Given the description of an element on the screen output the (x, y) to click on. 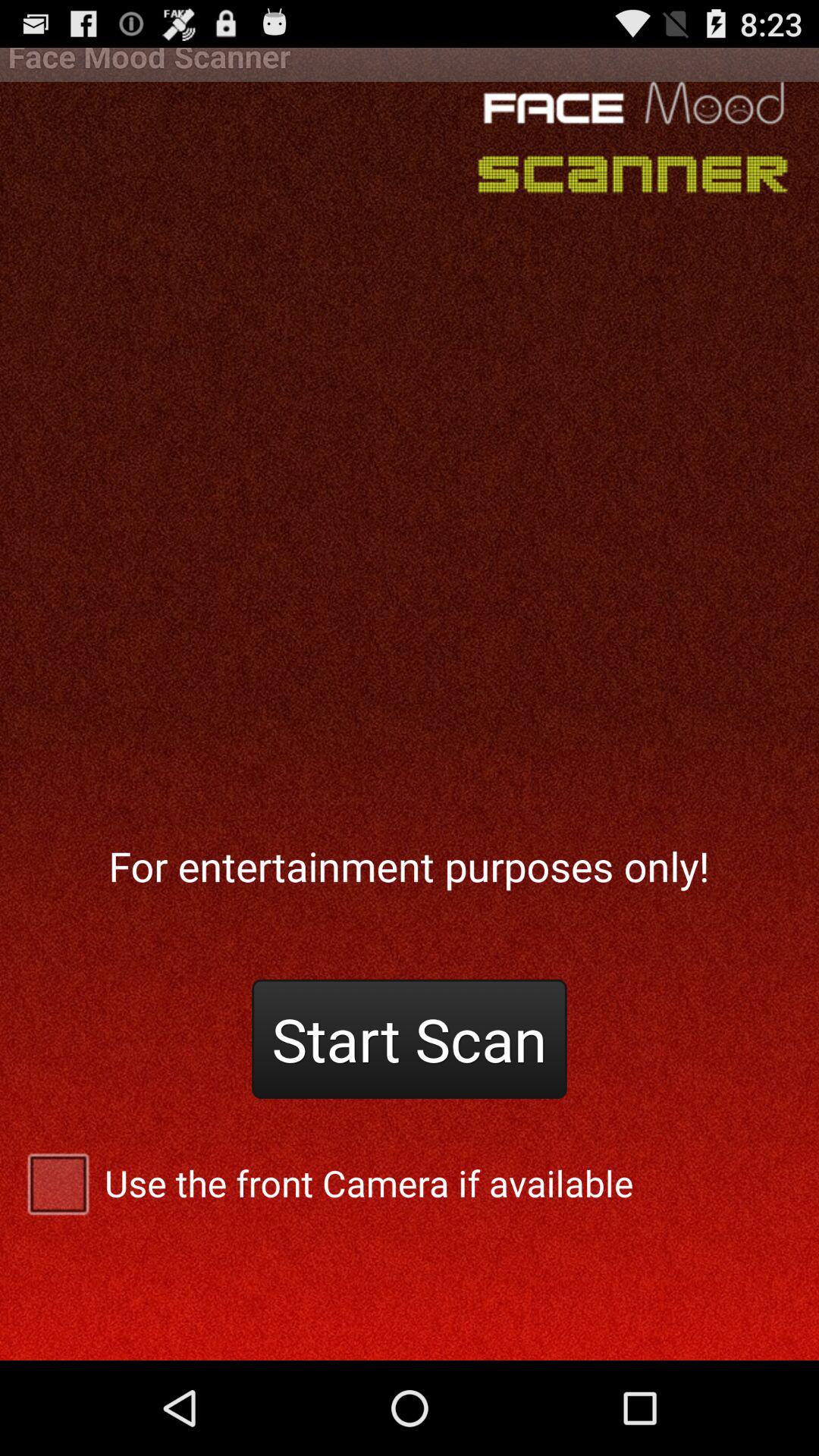
choose item below the for entertainment purposes (409, 1038)
